Given the description of an element on the screen output the (x, y) to click on. 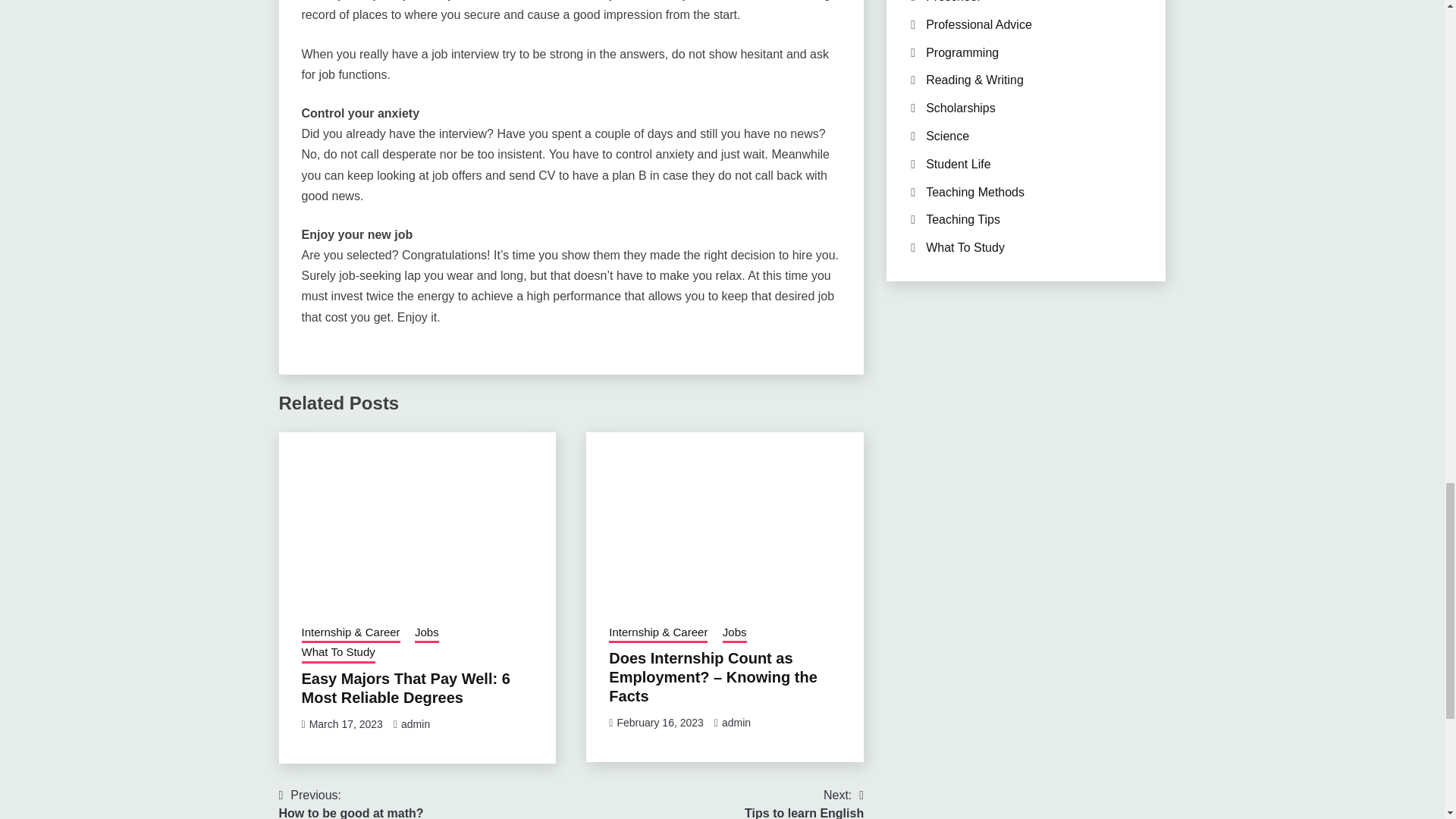
Jobs (426, 633)
February 16, 2023 (659, 722)
Easy Majors That Pay Well: 6 Most Reliable Degrees (406, 687)
What To Study (338, 653)
Jobs (351, 802)
March 17, 2023 (734, 633)
admin (345, 724)
admin (736, 722)
